Given the description of an element on the screen output the (x, y) to click on. 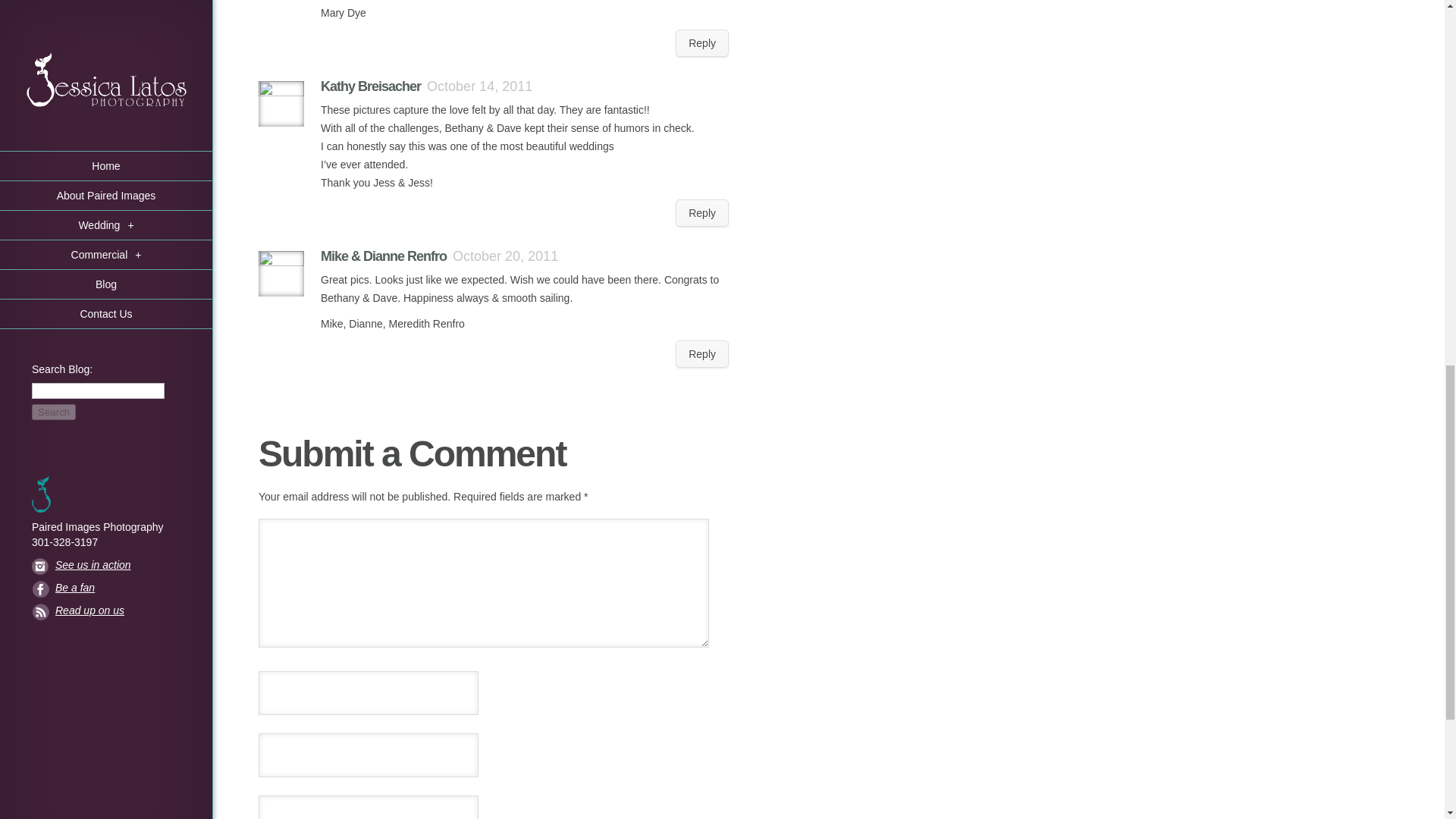
Reply (702, 353)
Reply (702, 212)
Reply (702, 42)
